Given the description of an element on the screen output the (x, y) to click on. 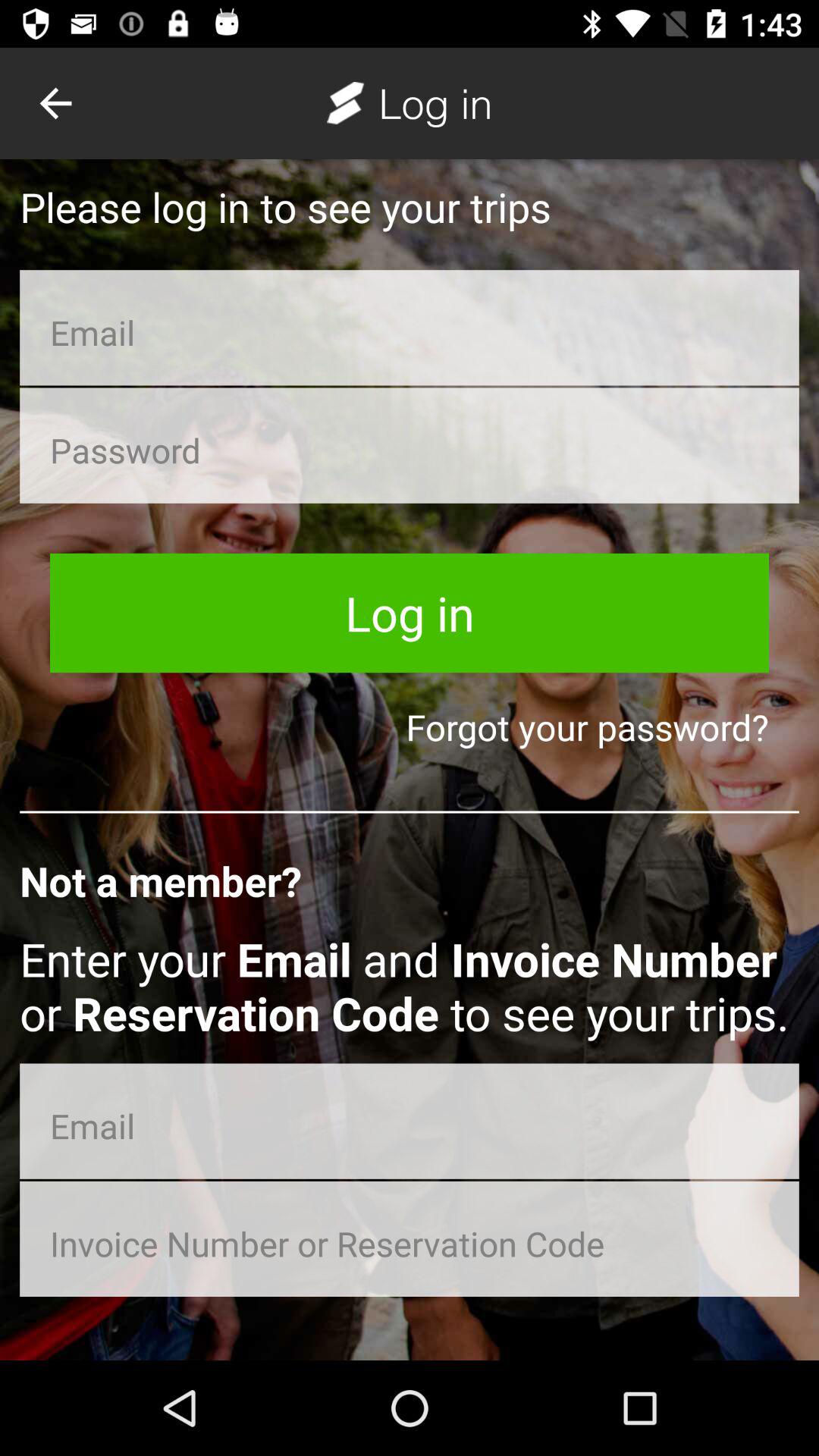
select the text field password on the web page (409, 445)
